Given the description of an element on the screen output the (x, y) to click on. 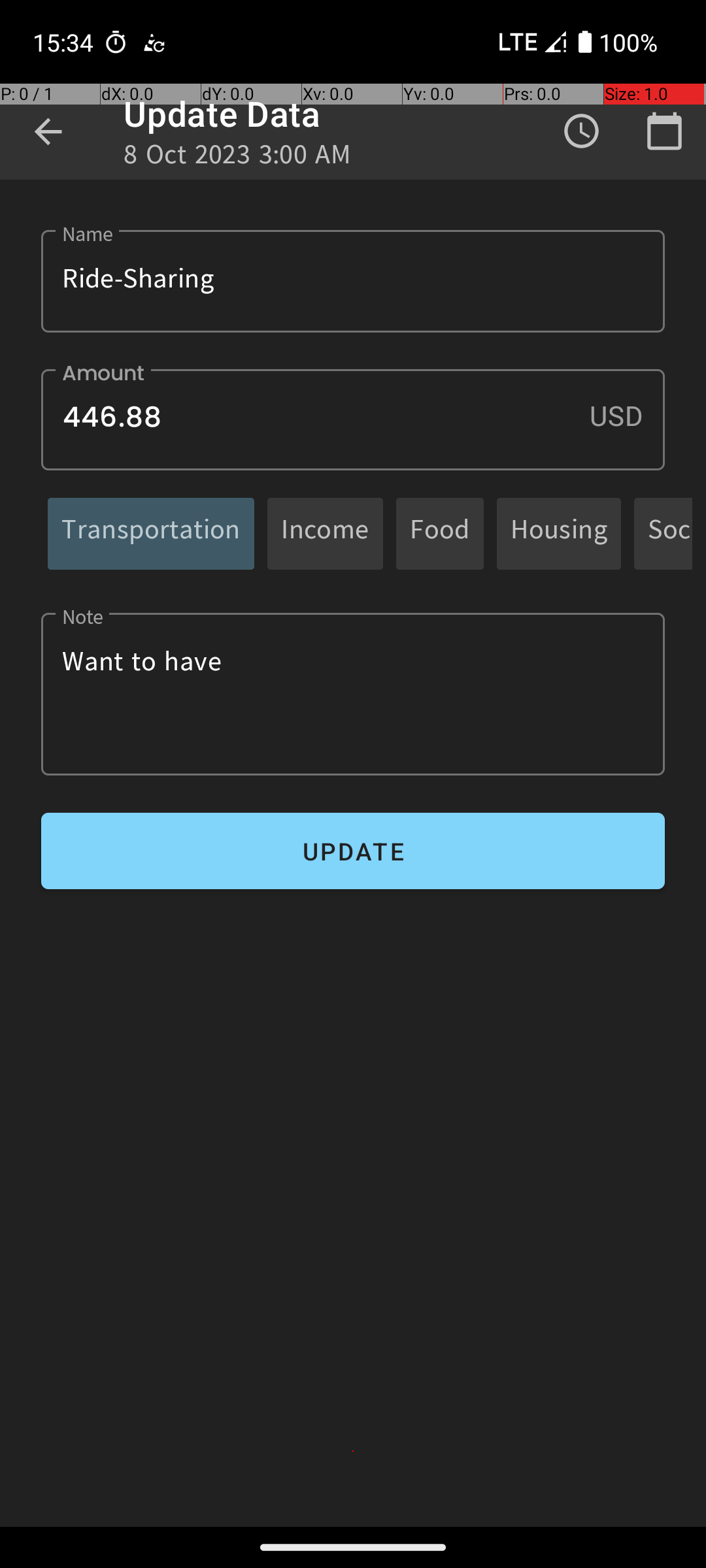
8 Oct 2023 3:00 AM Element type: android.widget.TextView (237, 157)
Ride-Sharing Element type: android.widget.EditText (352, 280)
446.88 Element type: android.widget.EditText (352, 419)
Transportation Element type: android.widget.TextView (150, 533)
